Given the description of an element on the screen output the (x, y) to click on. 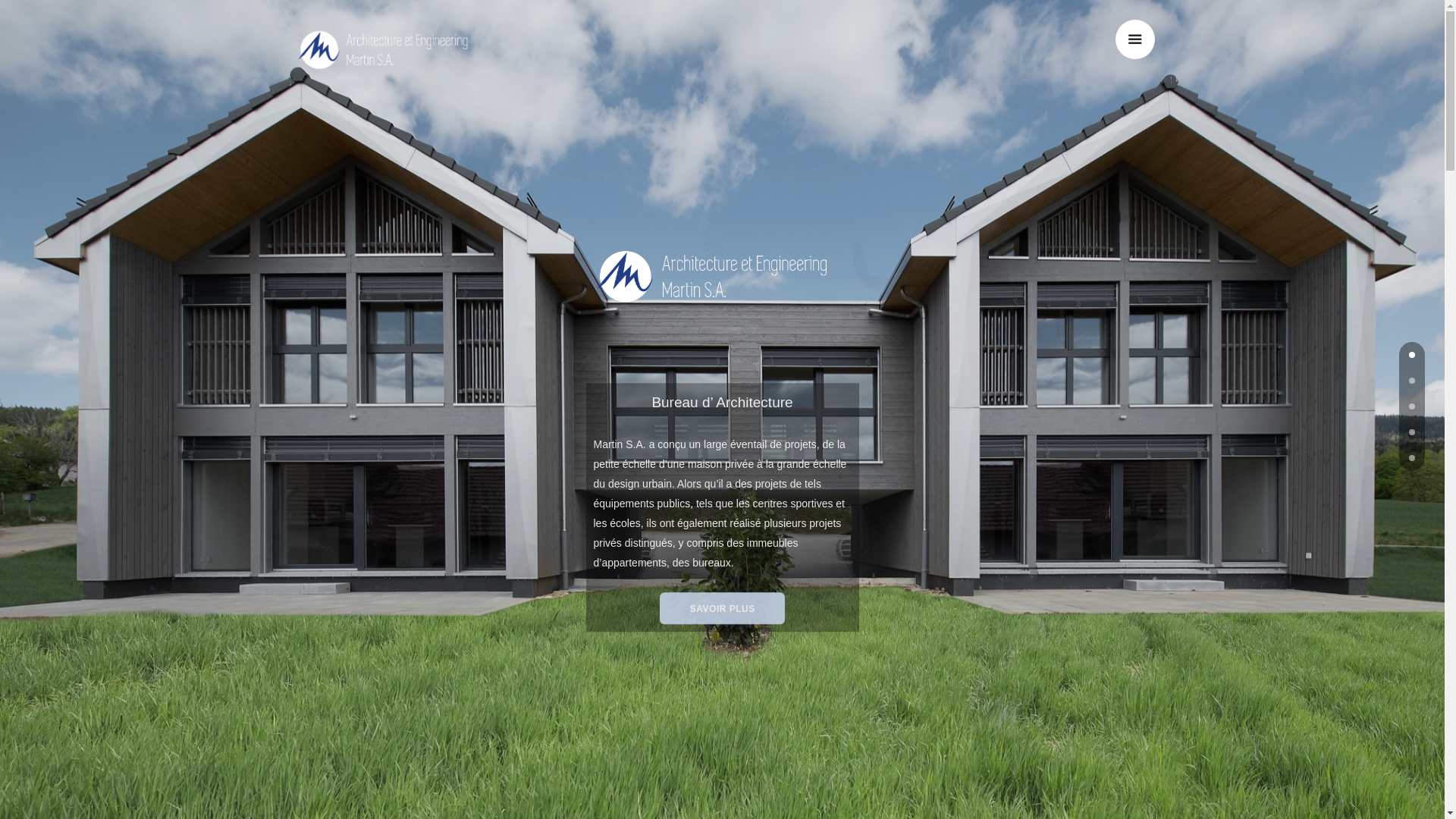
SAVOIR PLUS Element type: text (721, 608)
